Given the description of an element on the screen output the (x, y) to click on. 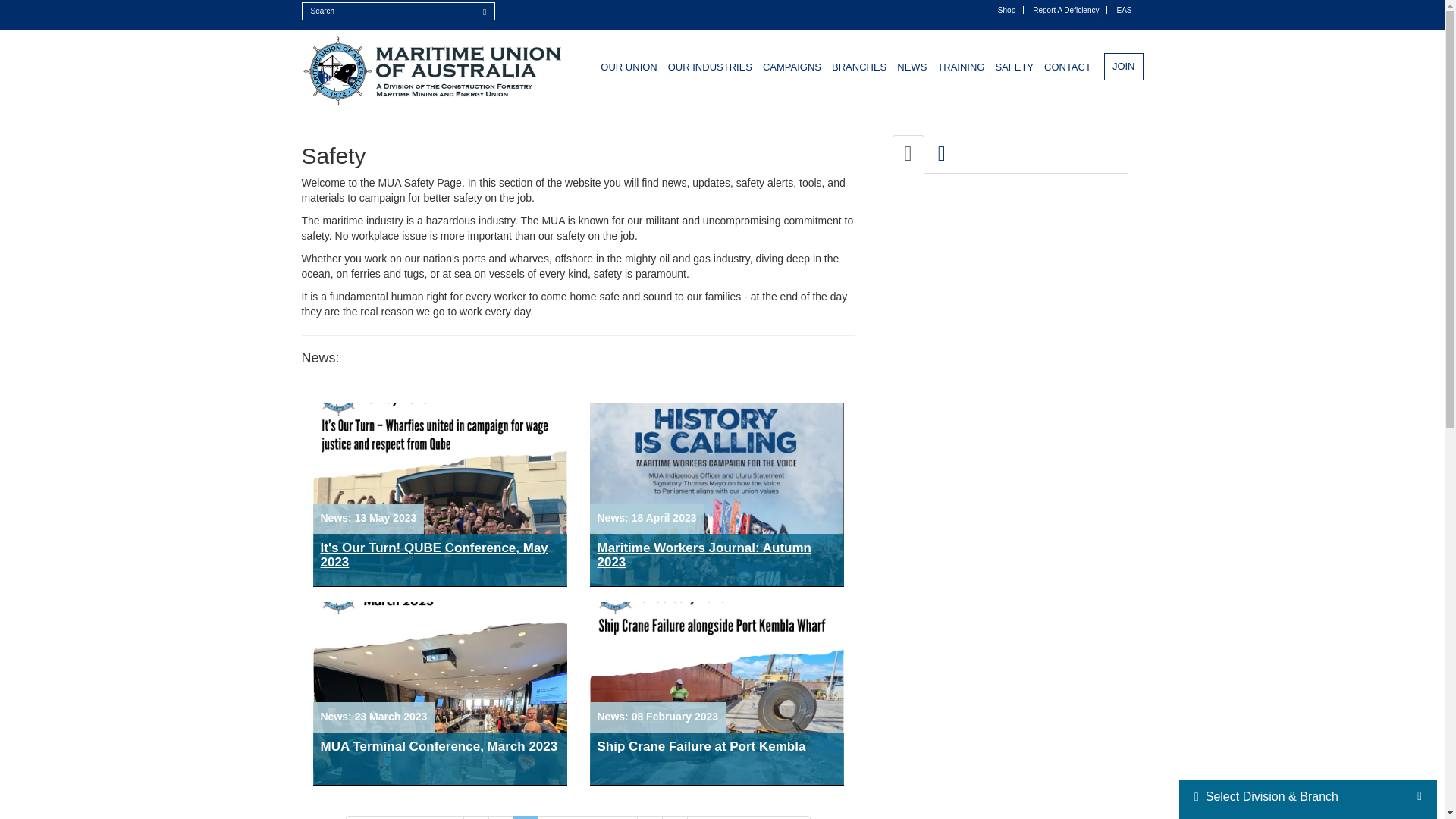
Home (434, 71)
Go to page 5 (575, 817)
Go to last page (786, 817)
Go to first page (370, 817)
Go to page 8 (649, 817)
Go to page 1 (476, 817)
Go to page 6 (600, 817)
Enter the terms you wish to search for. (389, 11)
Go to page 2 (500, 817)
Go to page 9 (674, 817)
Go to previous page (428, 817)
Go to page 4 (550, 817)
Go to page 7 (625, 817)
Go to next page (740, 817)
